Given the description of an element on the screen output the (x, y) to click on. 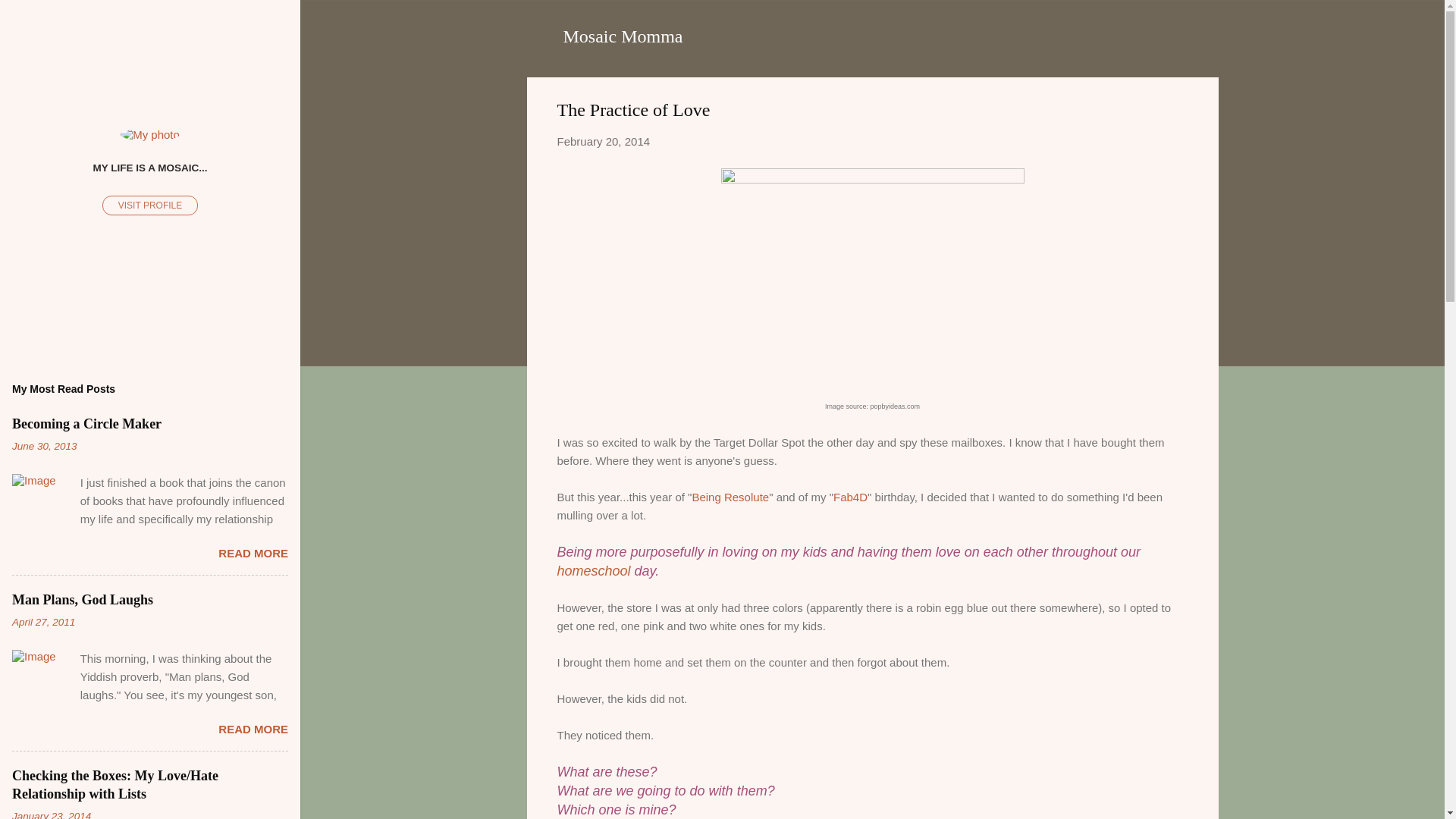
Fab4D (849, 495)
February 20, 2014 (602, 141)
VISIT PROFILE (149, 205)
Becoming a Circle Maker (86, 423)
Search (29, 18)
Mosaic Momma (622, 35)
permanent link (602, 141)
June 30, 2013 (44, 446)
Being Resolute (729, 495)
MY LIFE IS A MOSAIC... (149, 167)
homeschool (594, 570)
READ MORE (253, 553)
Man Plans, God Laughs (81, 599)
